Given the description of an element on the screen output the (x, y) to click on. 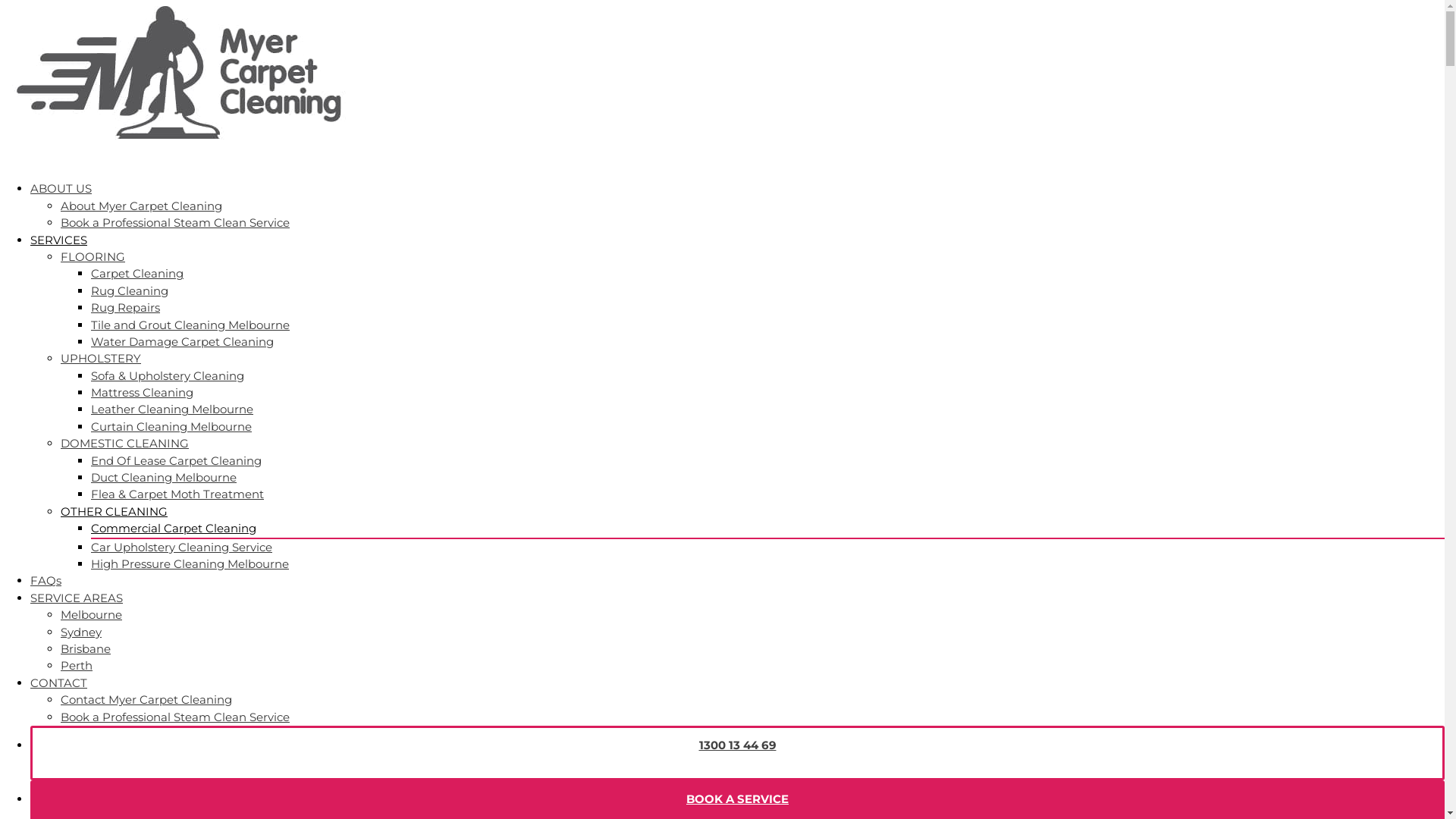
UPHOLSTERY Element type: text (100, 358)
Carpet Cleaning Element type: text (137, 273)
DOMESTIC CLEANING Element type: text (124, 443)
Brisbane Element type: text (85, 648)
Melbourne Element type: text (91, 614)
1300 13 44 69 Element type: text (737, 753)
FAQs Element type: text (45, 589)
Rug Repairs Element type: text (125, 307)
Book a Professional Steam Clean Service Element type: text (174, 716)
Tile and Grout Cleaning Melbourne Element type: text (190, 324)
Flea & Carpet Moth Treatment Element type: text (177, 493)
End Of Lease Carpet Cleaning Element type: text (176, 460)
Contact Myer Carpet Cleaning Element type: text (146, 699)
Sofa & Upholstery Cleaning Element type: text (167, 375)
Curtain Cleaning Melbourne Element type: text (171, 426)
Duct Cleaning Melbourne Element type: text (163, 477)
FLOORING Element type: text (92, 256)
OTHER CLEANING Element type: text (113, 511)
SERVICE AREAS Element type: text (76, 606)
Commercial Carpet Cleaning Element type: text (173, 527)
Book a Professional Steam Clean Service Element type: text (174, 222)
Sydney Element type: text (80, 631)
About Myer Carpet Cleaning Element type: text (141, 205)
Car Upholstery Cleaning Service Element type: text (181, 546)
High Pressure Cleaning Melbourne Element type: text (189, 563)
SERVICES Element type: text (58, 248)
Perth Element type: text (76, 665)
Leather Cleaning Melbourne Element type: text (172, 408)
Mattress Cleaning Element type: text (142, 392)
Water Damage Carpet Cleaning Element type: text (182, 341)
ABOUT US Element type: text (60, 197)
Rug Cleaning Element type: text (129, 290)
CONTACT Element type: text (58, 691)
